Given the description of an element on the screen output the (x, y) to click on. 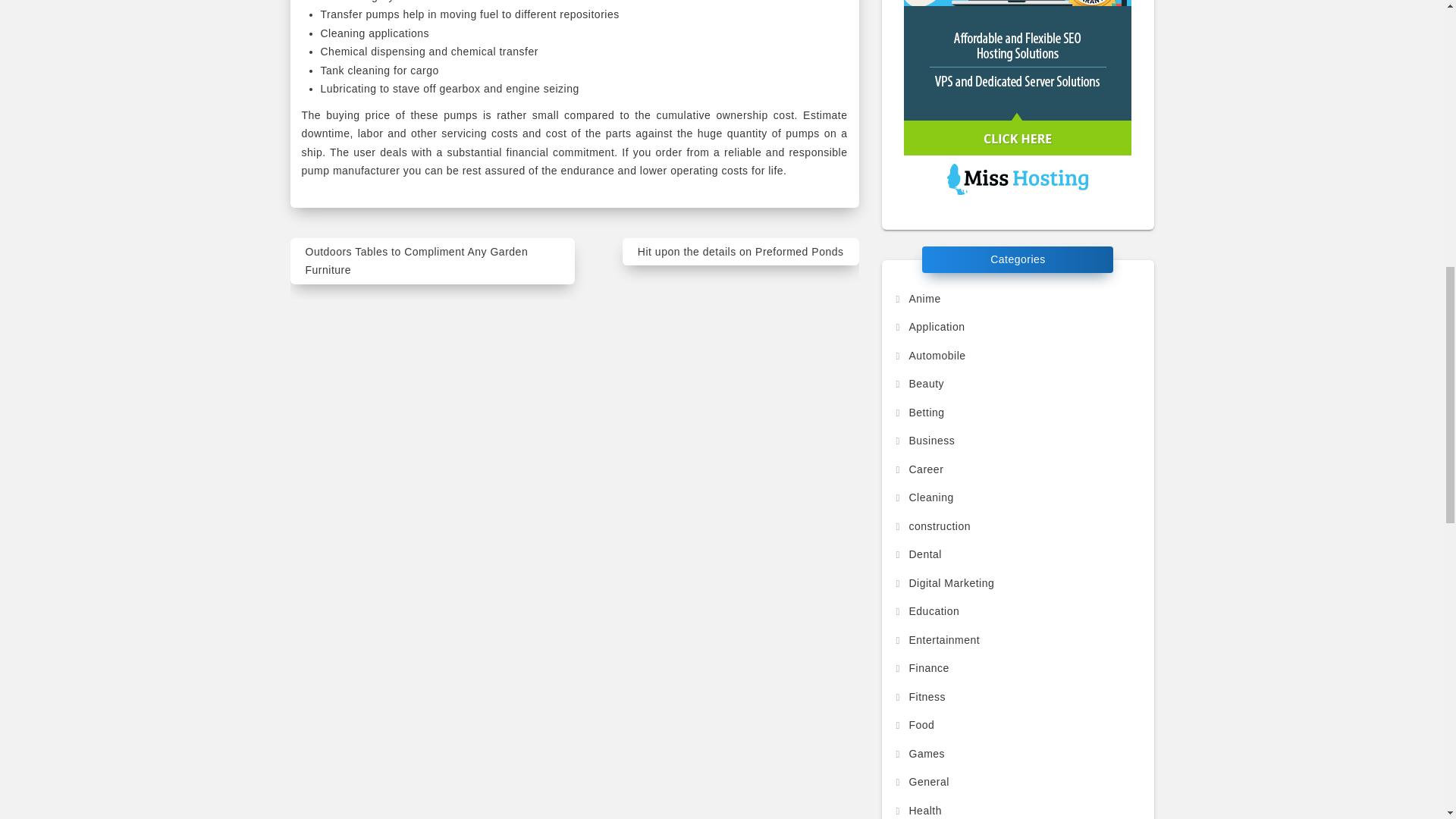
Anime (916, 298)
Finance (921, 667)
Career (918, 468)
Entertainment (936, 639)
Hit upon the details on Preformed Ponds (741, 252)
Business (924, 440)
Cleaning (923, 497)
Beauty (918, 383)
Education (926, 611)
Fitness (919, 695)
